Given the description of an element on the screen output the (x, y) to click on. 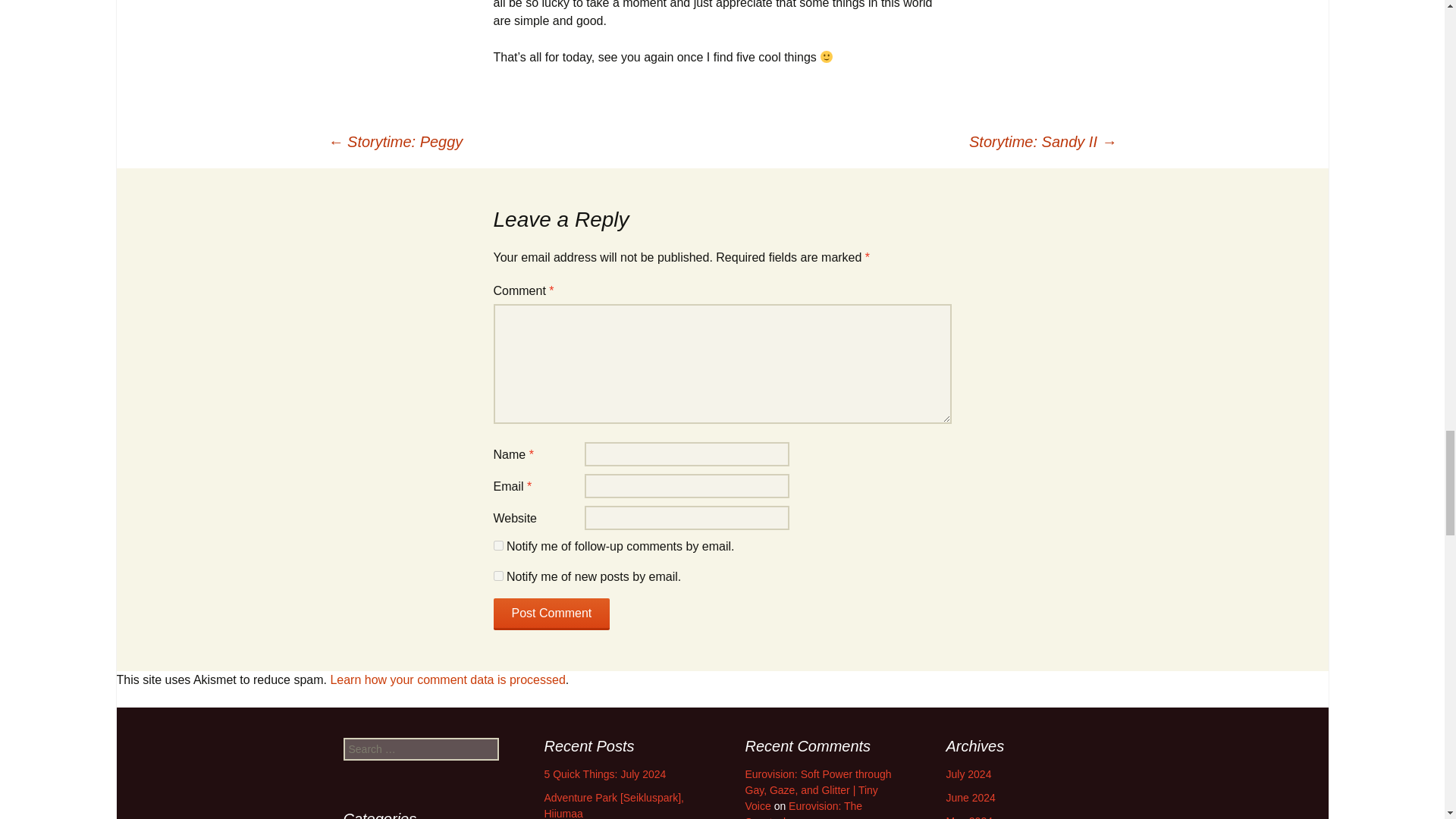
Eurovision: The Spectacle (802, 809)
subscribe (497, 545)
Post Comment (551, 613)
5 Quick Things: July 2024 (605, 774)
Learn how your comment data is processed (447, 679)
Post Comment (551, 613)
subscribe (497, 575)
